Given the description of an element on the screen output the (x, y) to click on. 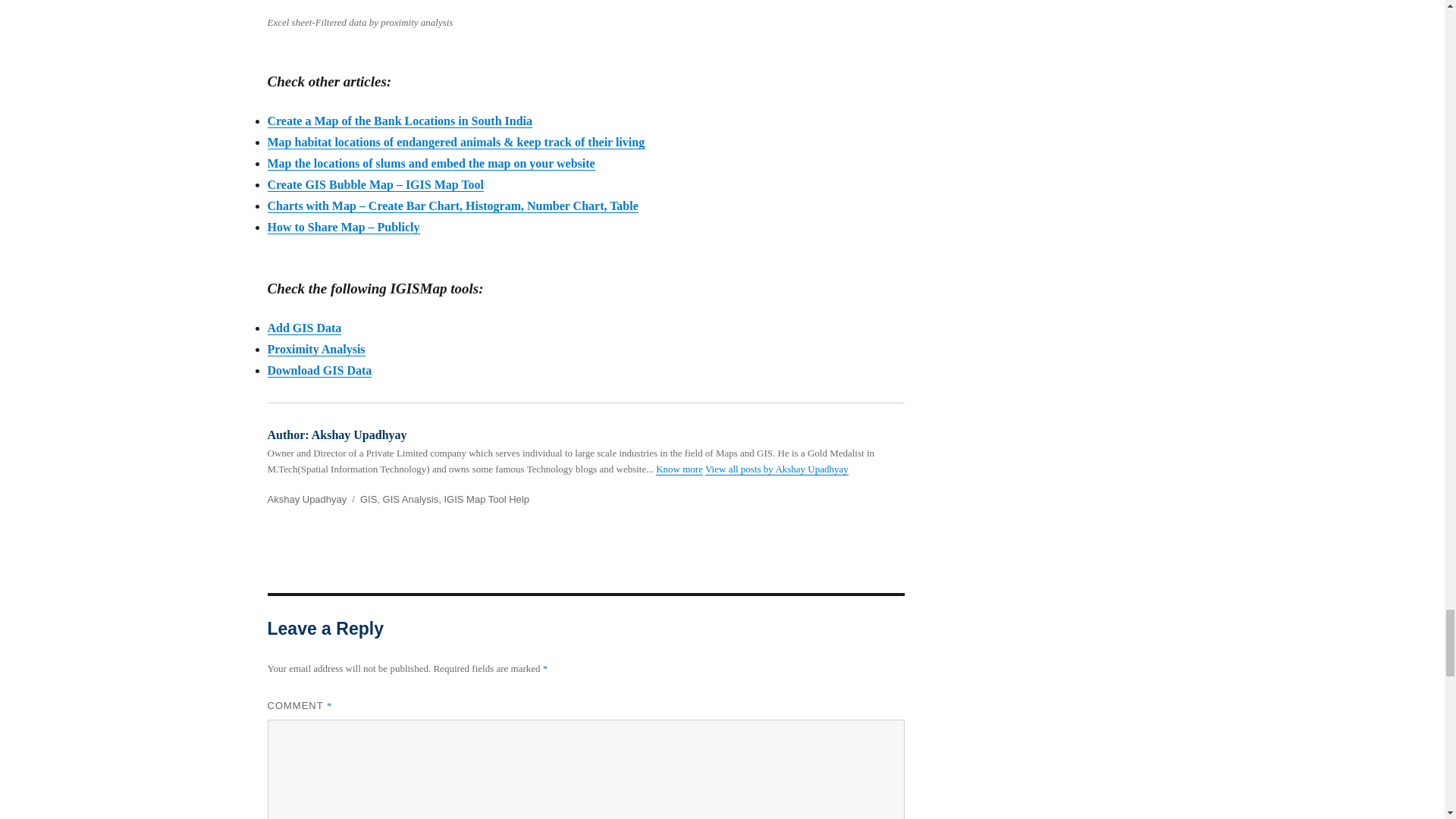
View all posts by Akshay Upadhyay (776, 469)
Proximity Analysis (315, 349)
Akshay Upadhyay (306, 499)
Know more (679, 469)
GIS (368, 499)
Map the locations of slums and embed the map on your website (430, 163)
Create a Map of the Bank Locations in South India (399, 120)
IGIS Map Tool Help (486, 499)
GIS Analysis (410, 499)
Add GIS Data (303, 327)
